Given the description of an element on the screen output the (x, y) to click on. 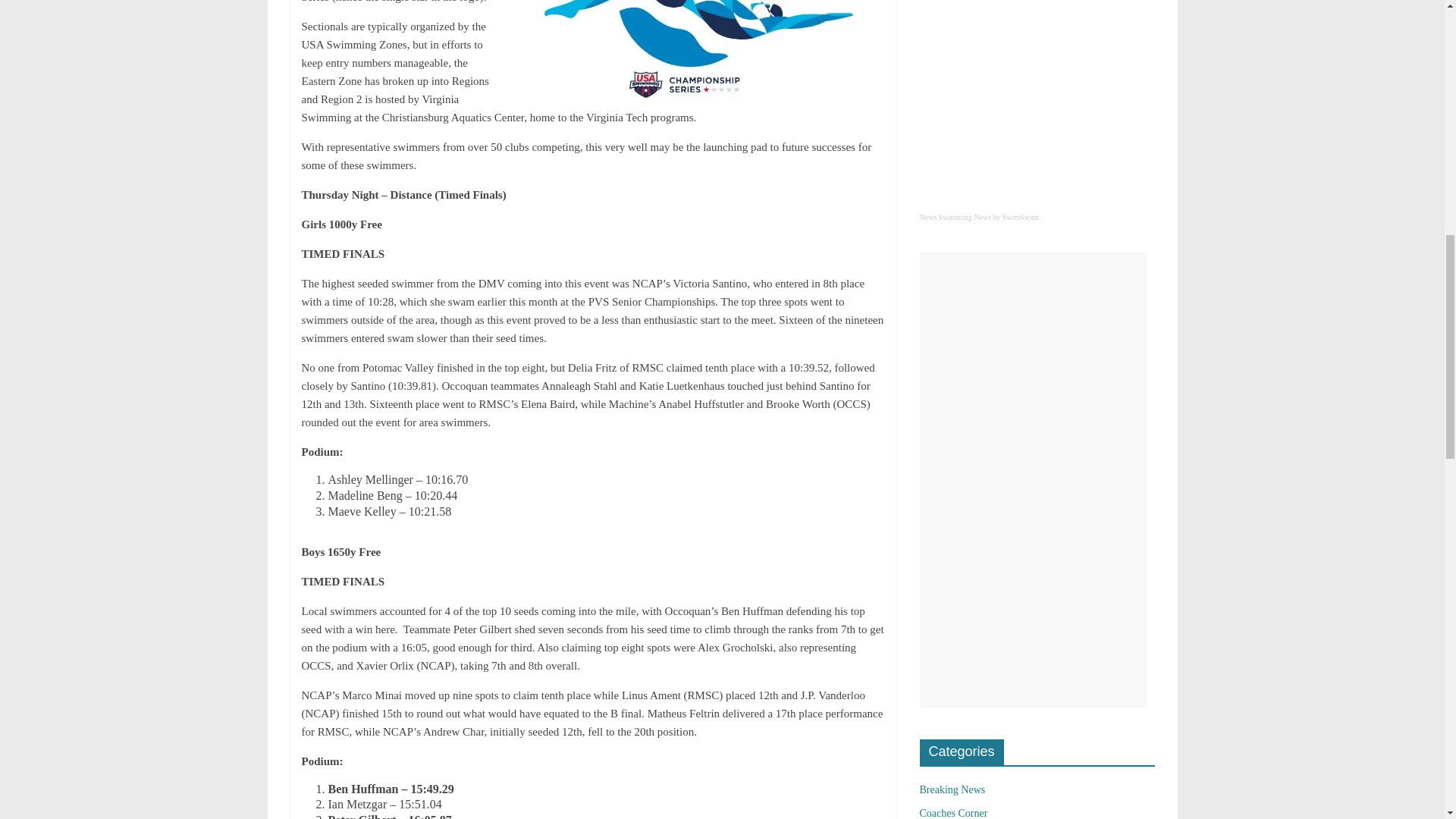
News Swimming News by SwimSwam (1036, 225)
Breaking News (951, 789)
Coaches Corner (952, 813)
